Given the description of an element on the screen output the (x, y) to click on. 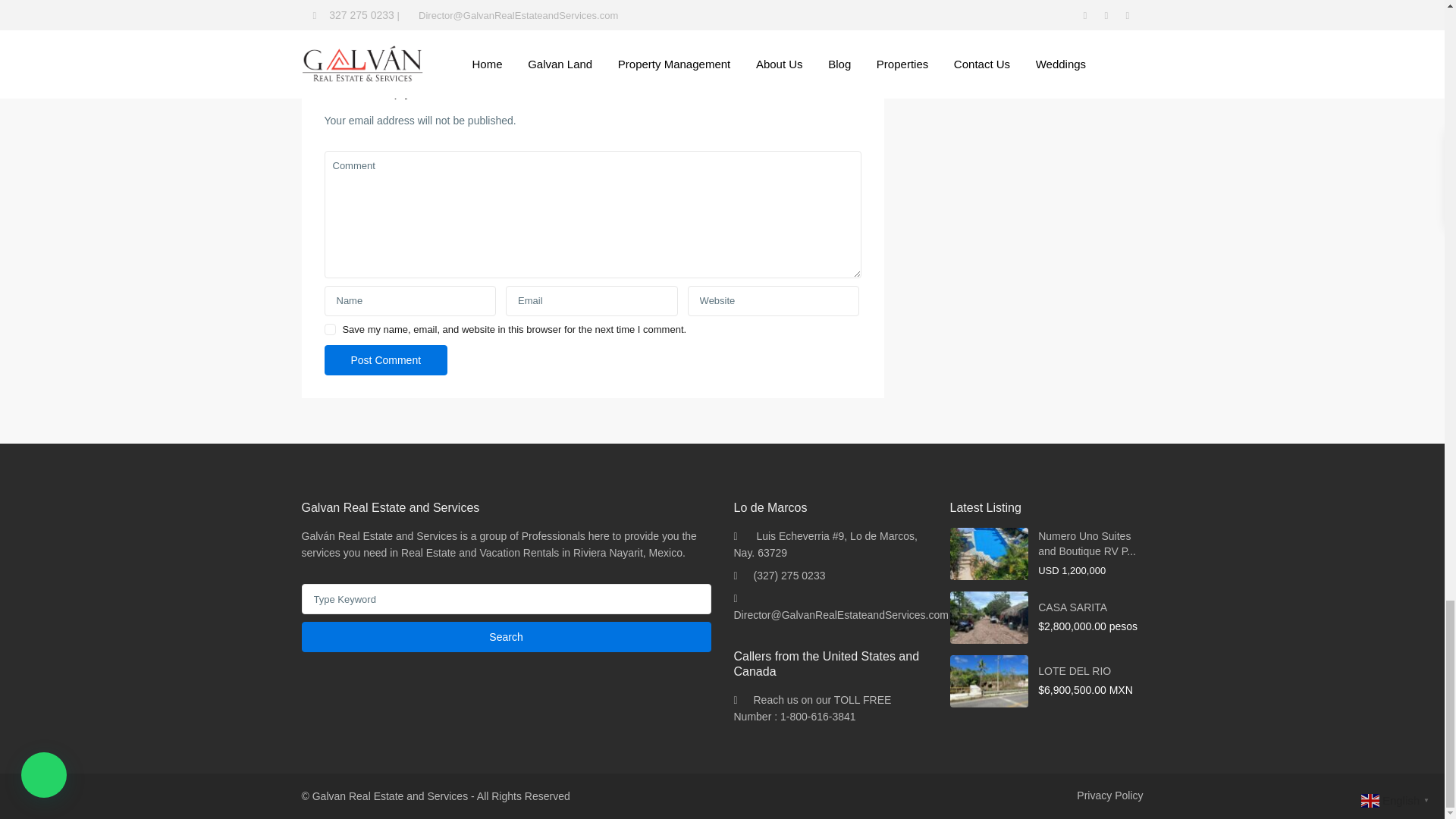
yes (330, 328)
Post Comment (386, 359)
